Given the description of an element on the screen output the (x, y) to click on. 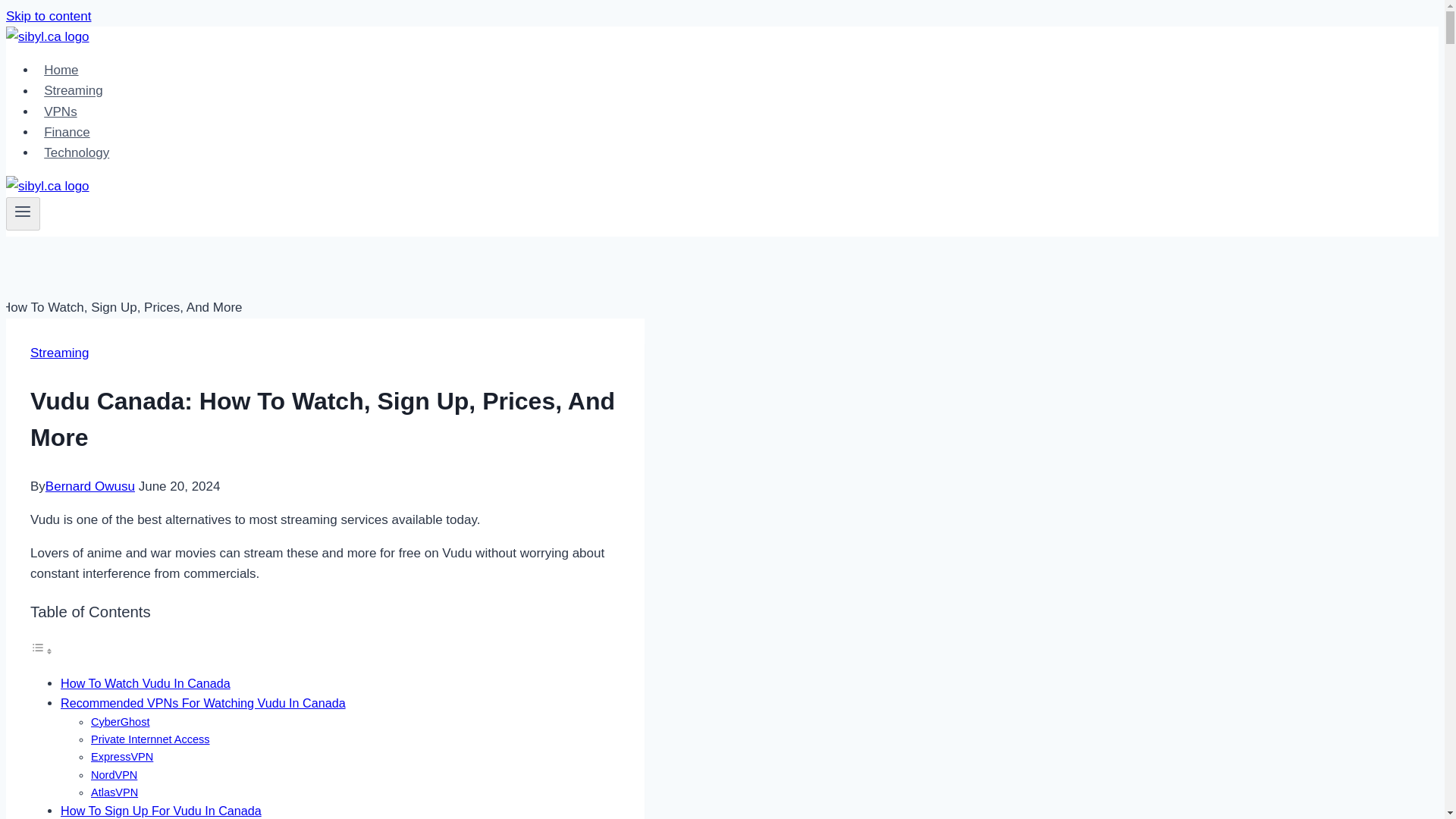
Skip to content (47, 16)
How To Watch Vudu In Canada (145, 683)
Technology (76, 152)
Streaming (59, 352)
Recommended VPNs For Watching Vudu In Canada (203, 703)
AtlasVPN (114, 792)
NordVPN (113, 775)
ExpressVPN (121, 756)
ExpressVPN (121, 756)
CyberGhost (119, 721)
